Given the description of an element on the screen output the (x, y) to click on. 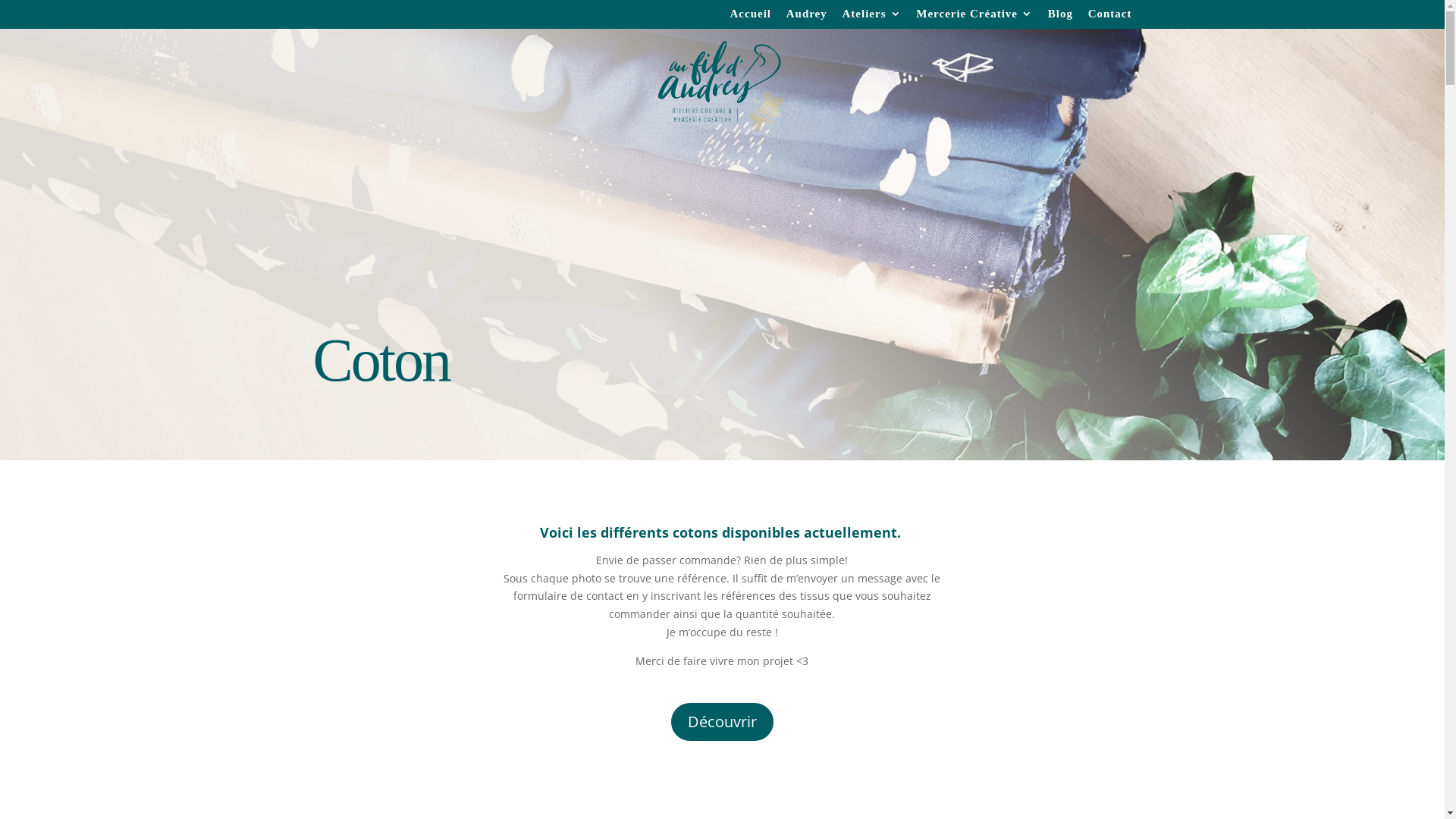
Accueil Element type: text (749, 18)
Blog Element type: text (1060, 18)
Audrey Element type: text (806, 18)
Contact Element type: text (1110, 18)
Ateliers Element type: text (871, 18)
